Given the description of an element on the screen output the (x, y) to click on. 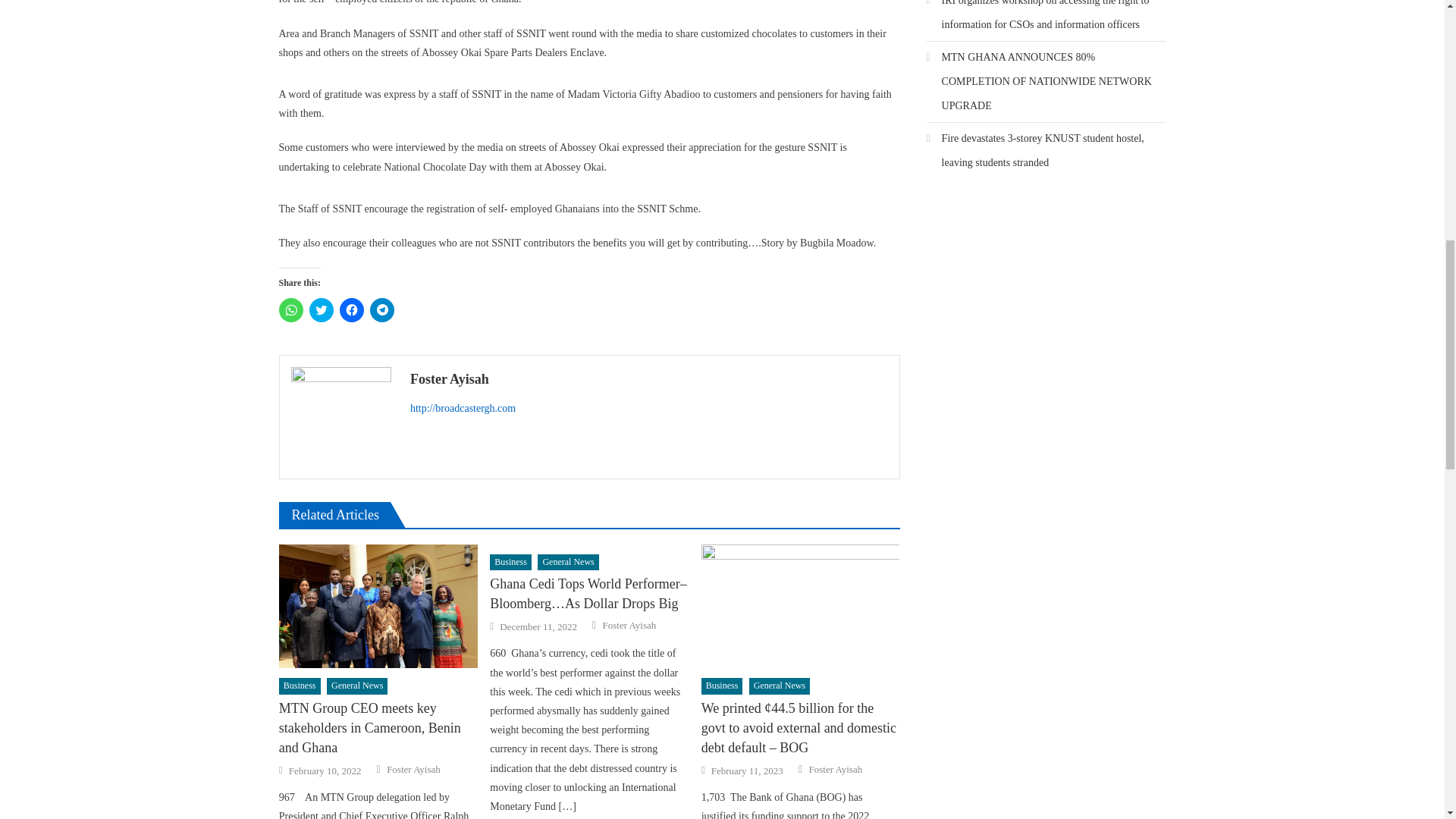
Business (299, 686)
Click to share on WhatsApp (290, 310)
Foster Ayisah (414, 769)
Foster Ayisah (649, 378)
Business (510, 562)
General News (567, 562)
Click to share on Facebook (351, 310)
Click to share on Telegram (381, 310)
General News (356, 686)
Click to share on Twitter (320, 310)
February 10, 2022 (324, 771)
